Given the description of an element on the screen output the (x, y) to click on. 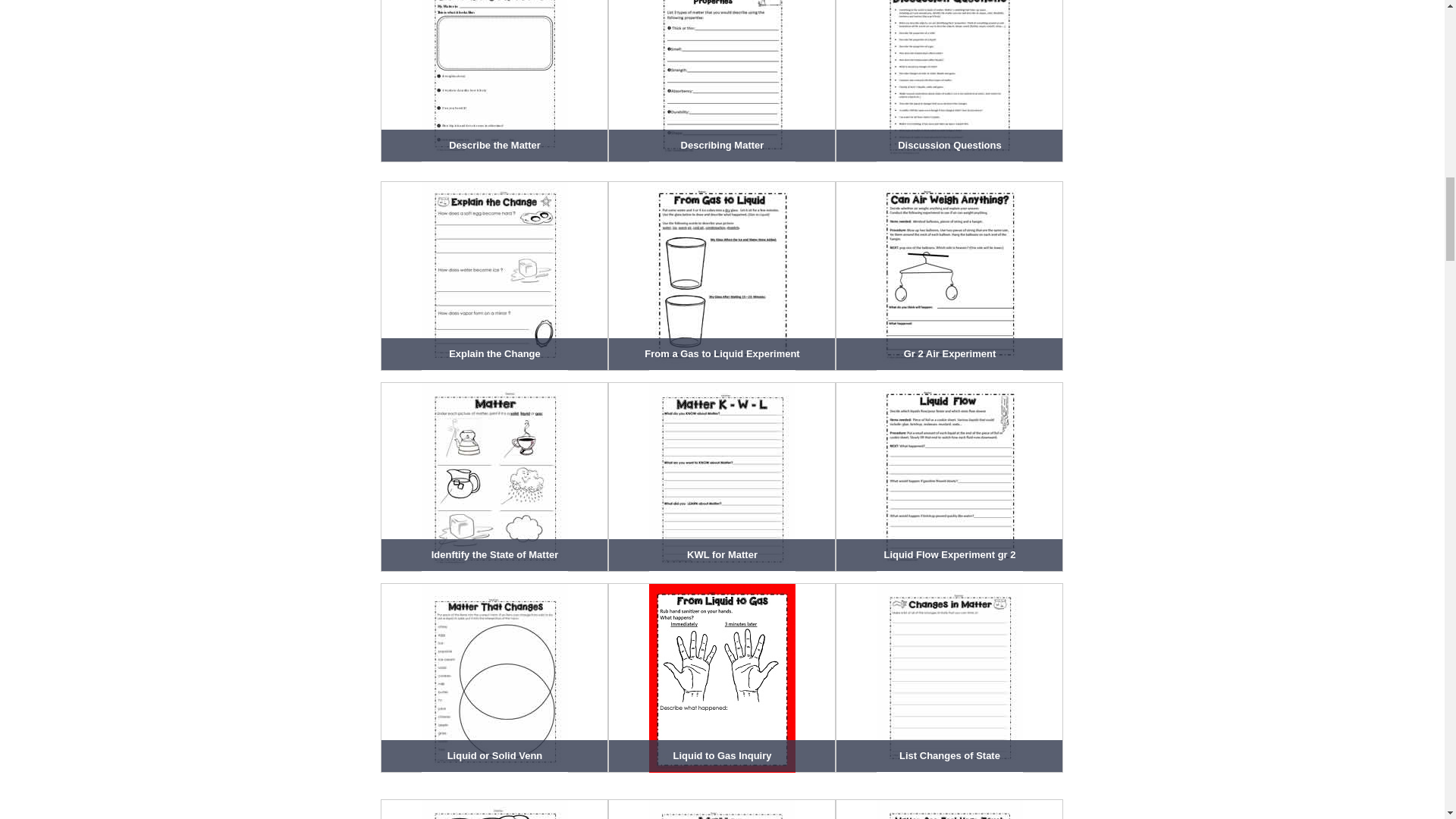
From a Gas to Liquid Experiment (721, 275)
Liquid or Solid Venn (494, 678)
KWL for Matter (721, 476)
Gr 2 Air Experiment (948, 275)
Describing Matter (721, 81)
Explain the Change (494, 275)
Describe the Matter (494, 81)
Liquid Flow Experiment gr 2 (948, 476)
Idenftify the State of Matter (494, 476)
Discussion Questions (948, 81)
